Given the description of an element on the screen output the (x, y) to click on. 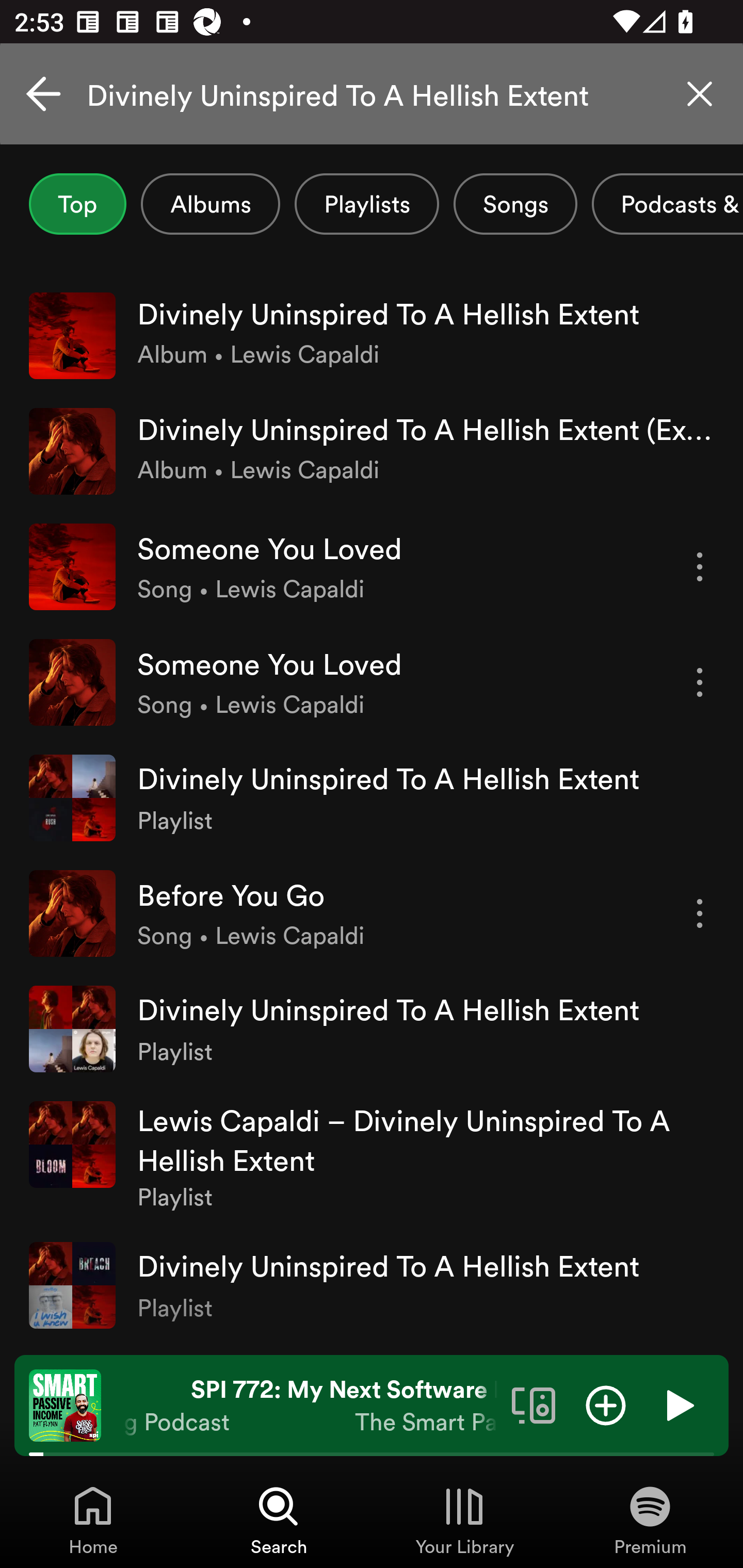
Divinely Uninspired To A Hellish Extent (371, 93)
Cancel (43, 93)
Clear search query (699, 93)
Top (77, 203)
Albums (210, 203)
Playlists (366, 203)
Songs (515, 203)
Podcasts & Shows (667, 203)
More options for song Someone You Loved (699, 566)
More options for song Someone You Loved (699, 682)
Divinely Uninspired To A Hellish Extent Playlist (371, 798)
More options for song Before You Go (699, 913)
Divinely Uninspired To A Hellish Extent Playlist (371, 1028)
Divinely Uninspired To A Hellish Extent Playlist (371, 1285)
The cover art of the currently playing track (64, 1404)
Connect to a device. Opens the devices menu (533, 1404)
Add item (605, 1404)
Play (677, 1404)
Home, Tab 1 of 4 Home Home (92, 1519)
Search, Tab 2 of 4 Search Search (278, 1519)
Your Library, Tab 3 of 4 Your Library Your Library (464, 1519)
Premium, Tab 4 of 4 Premium Premium (650, 1519)
